Given the description of an element on the screen output the (x, y) to click on. 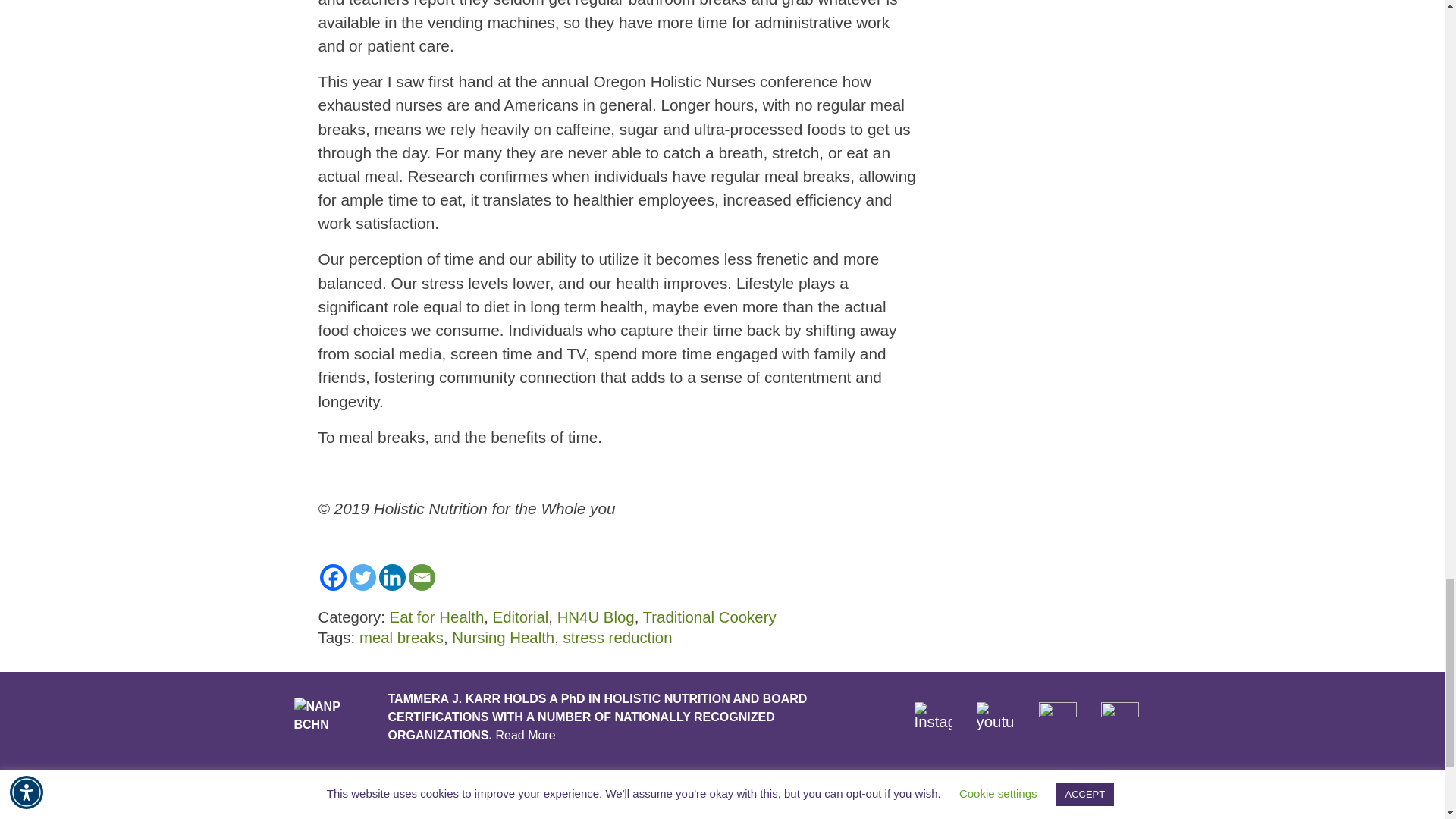
Nursing Health (502, 637)
facebook (1058, 720)
Editorial (520, 617)
meal breaks (401, 637)
Email (420, 577)
youtube (995, 720)
Eat for Health (437, 617)
Linkedin (392, 577)
Twitter (362, 577)
instagram (933, 720)
